Given the description of an element on the screen output the (x, y) to click on. 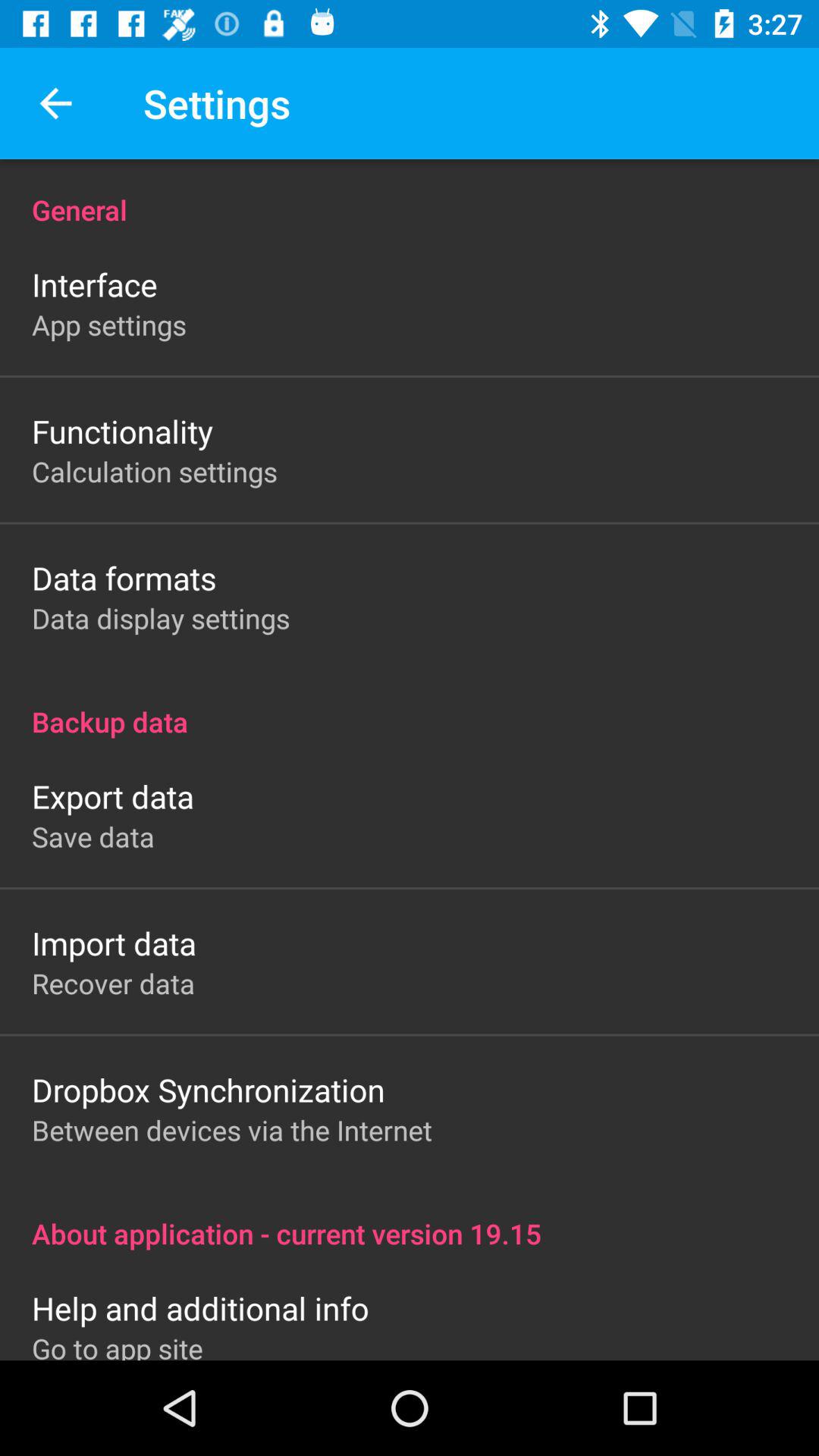
turn on the general (409, 193)
